Given the description of an element on the screen output the (x, y) to click on. 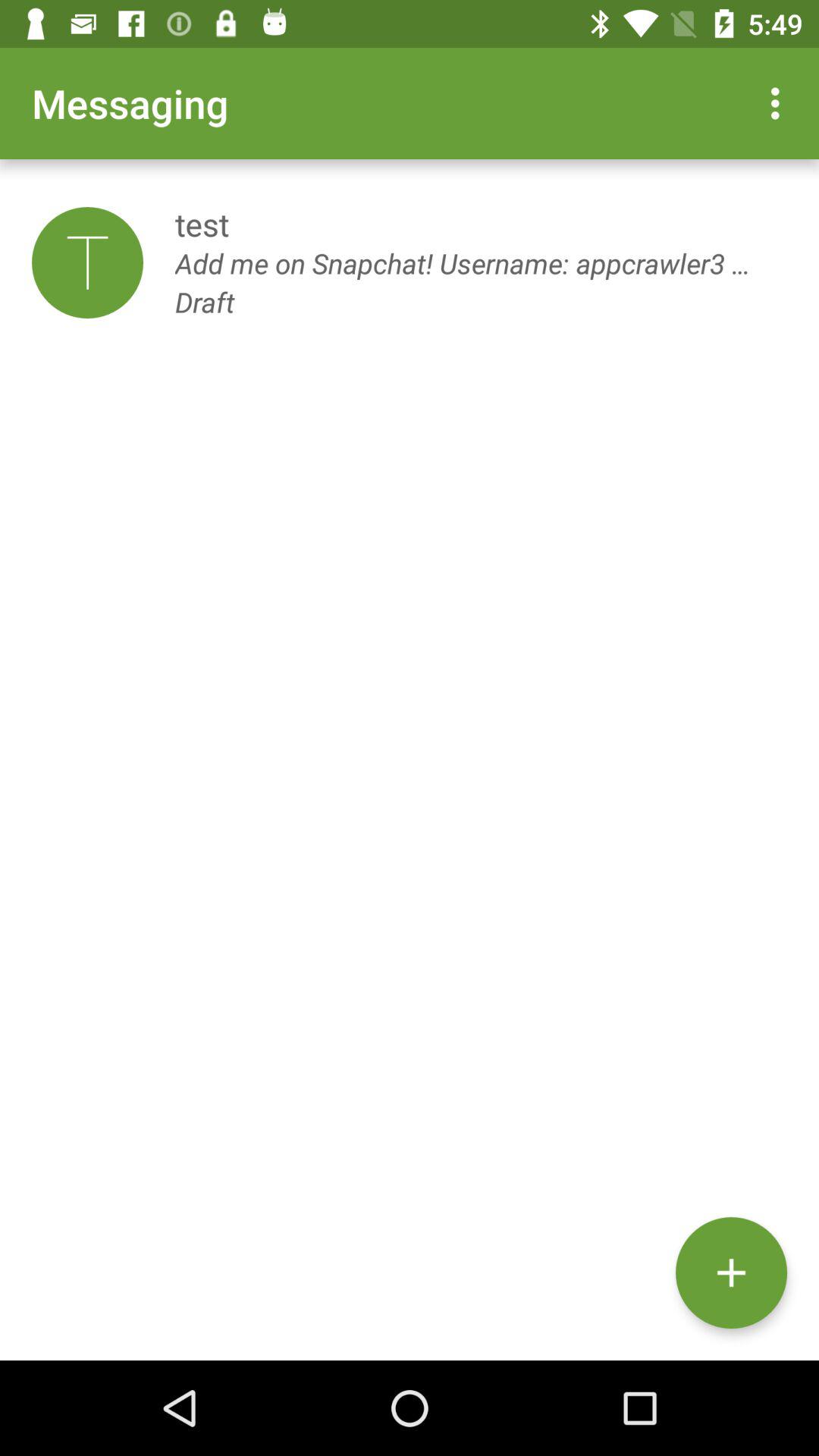
turn off the item to the left of test (87, 262)
